Given the description of an element on the screen output the (x, y) to click on. 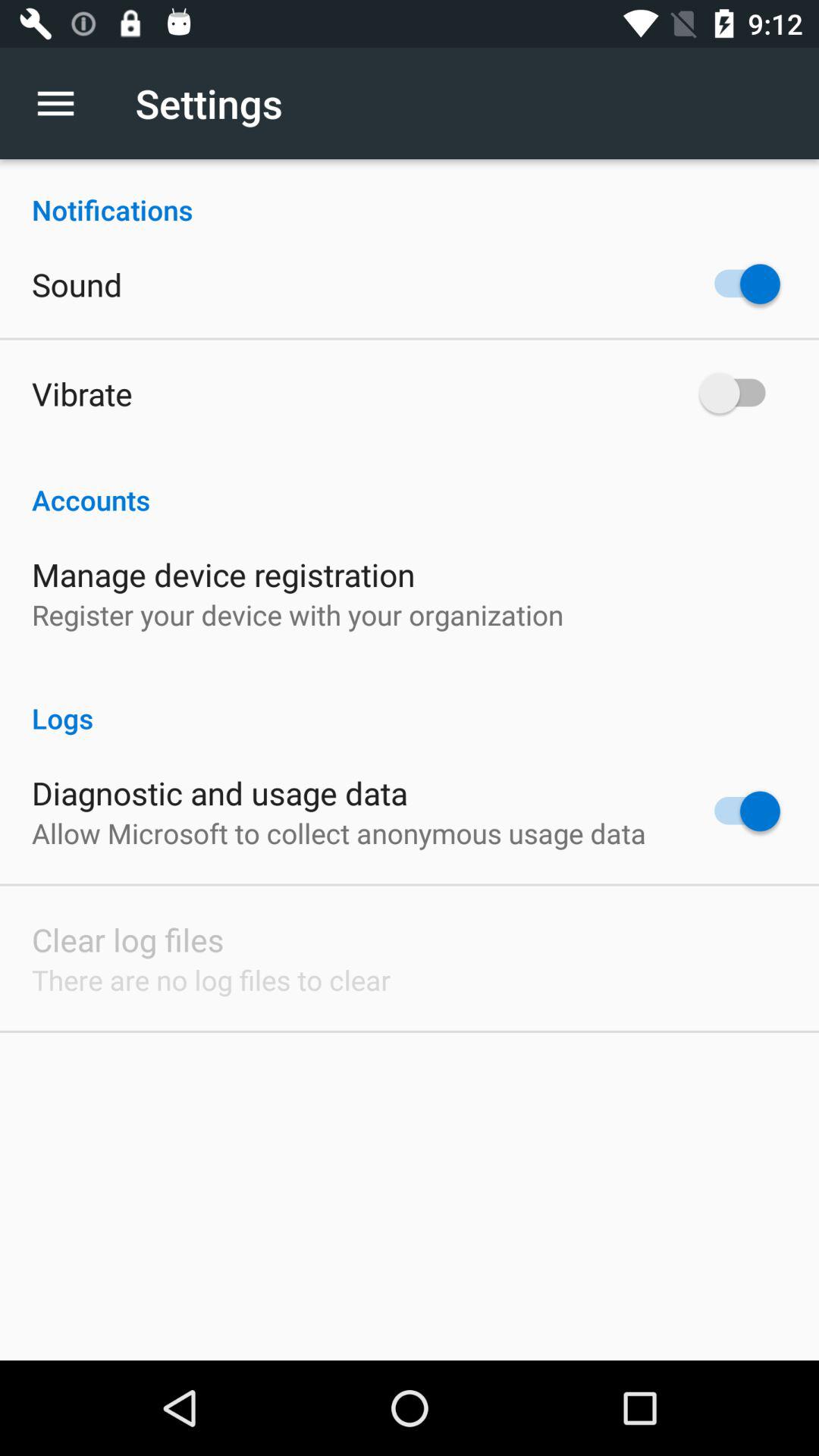
open icon above logs icon (297, 614)
